Given the description of an element on the screen output the (x, y) to click on. 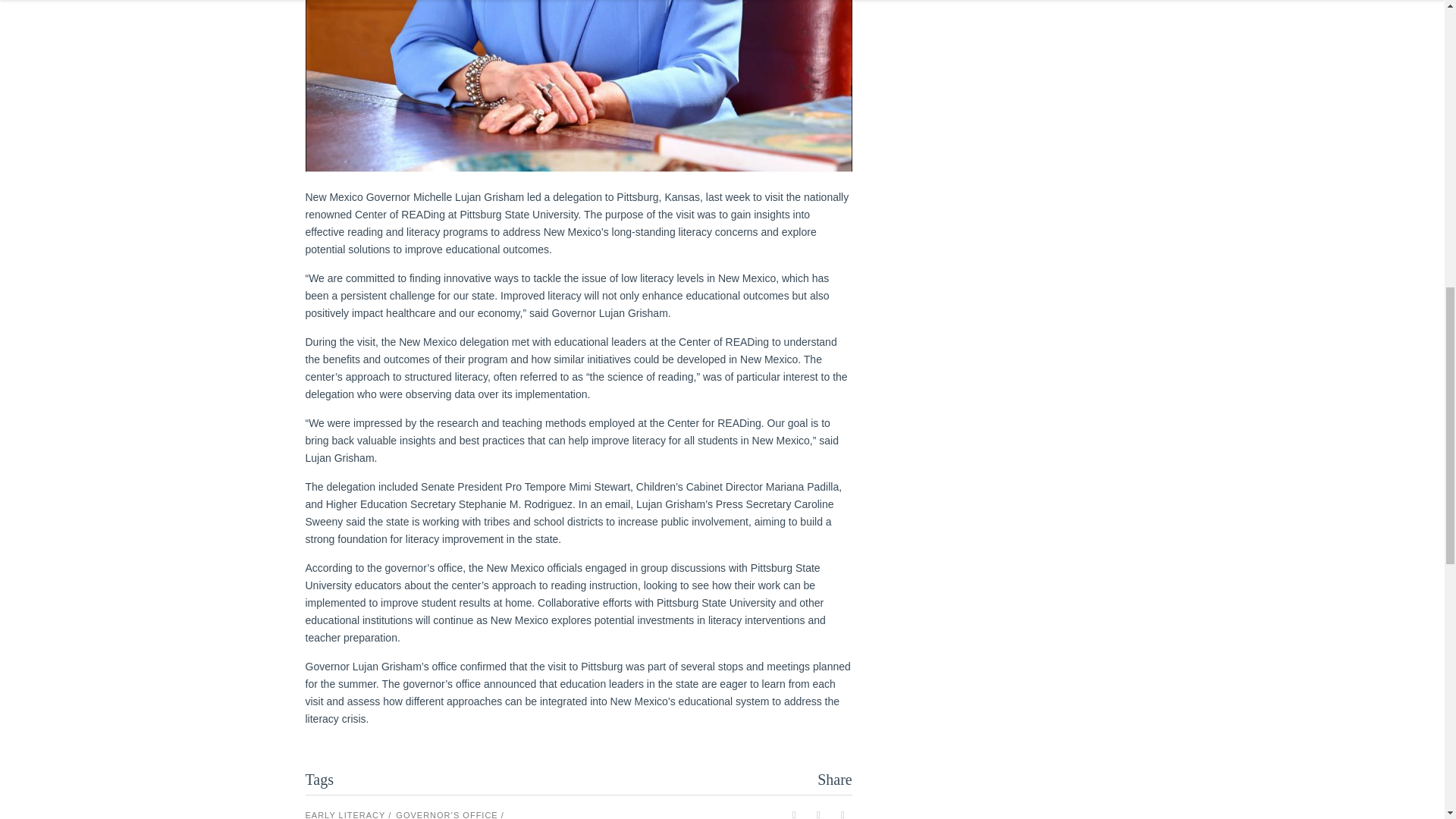
EARLY LITERACY (347, 813)
